Given the description of an element on the screen output the (x, y) to click on. 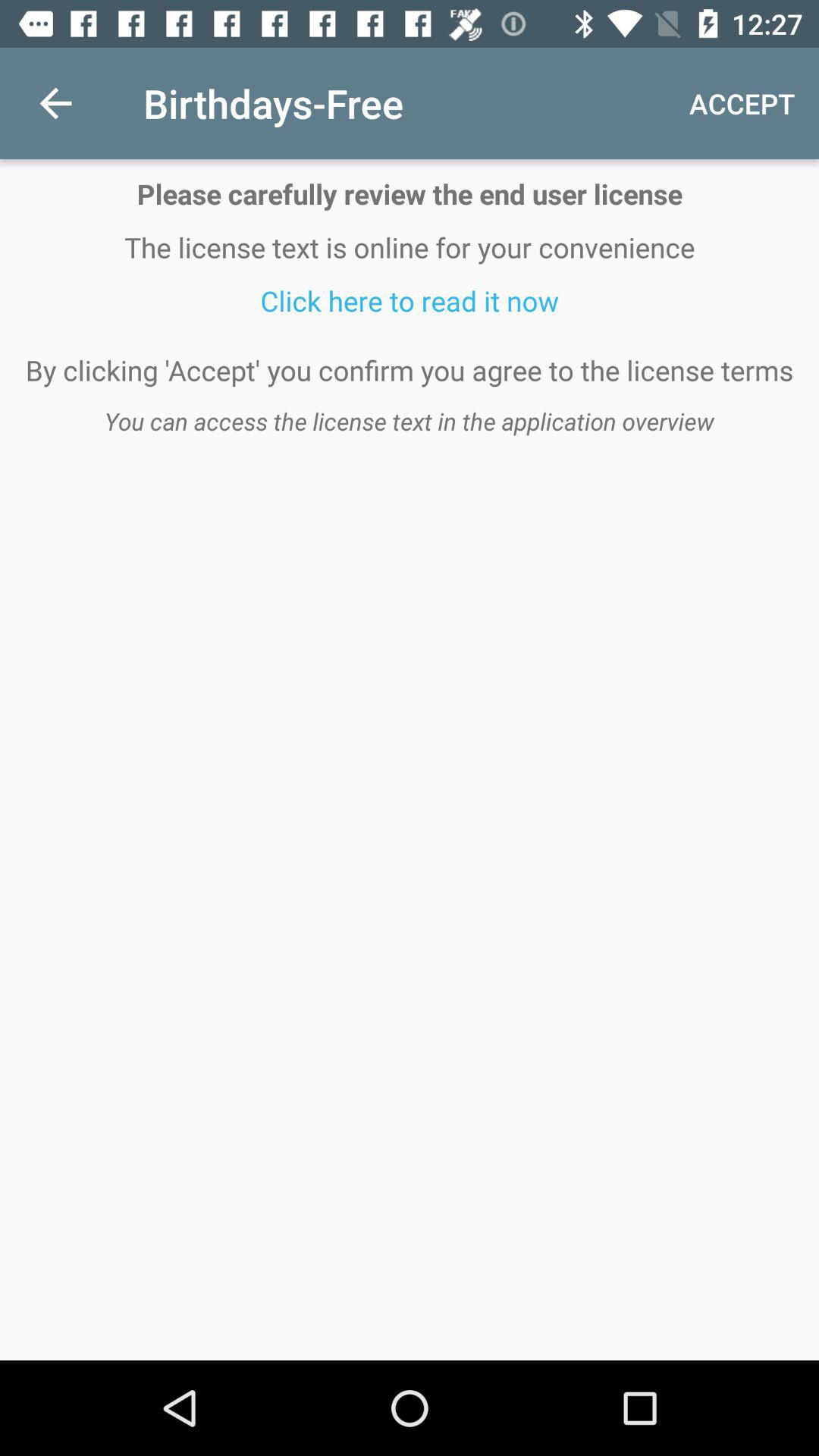
press icon to the left of the birthdays-free (55, 103)
